Given the description of an element on the screen output the (x, y) to click on. 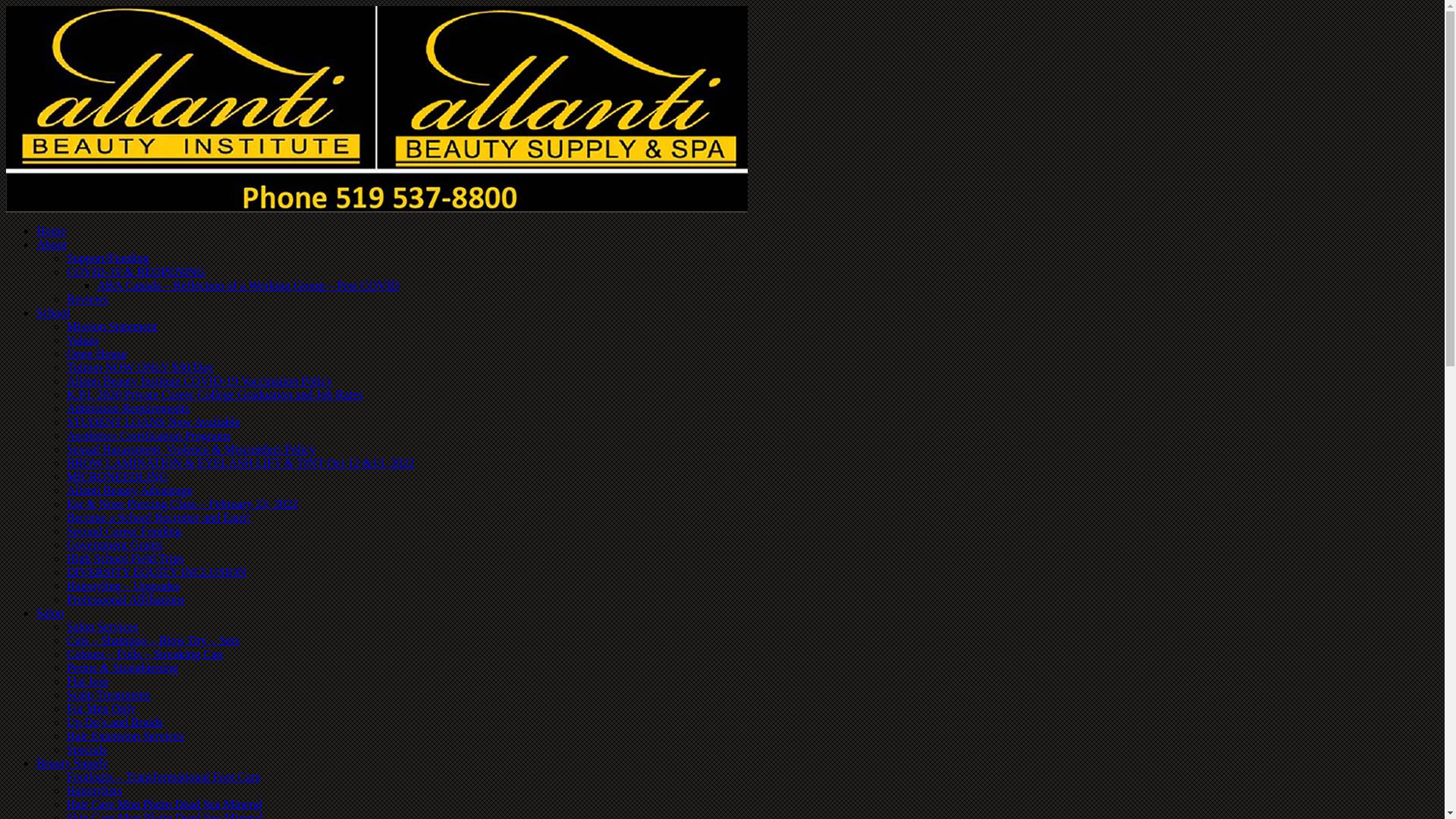
COVID-19 & REOPENING Element type: text (135, 271)
Flat Iron Element type: text (87, 680)
Values Element type: text (82, 339)
Allanti Beauty Institute COVID-19 Vaccination Policy Element type: text (199, 380)
Second Career Funding Element type: text (123, 530)
For Men Only Element type: text (101, 708)
MICRONEEDLING Element type: text (116, 476)
Open House Element type: text (96, 353)
BROW LAMINATION & EYELASH LIFT & TINT Oct 12 &13, 2022 Element type: text (240, 462)
Admission Requirements Element type: text (127, 407)
Mission Statement Element type: text (111, 326)
Hair Extension Services Element type: text (125, 735)
Professional Affiliations Element type: text (125, 599)
Aesthetics Certification Programs Element type: text (148, 435)
School Element type: text (52, 312)
Reviews Element type: text (87, 298)
Beauty Supply Element type: text (72, 762)
Support/Funding Element type: text (107, 257)
STUDENT LOANS Now Available Element type: text (153, 421)
Perms & Straightening Element type: text (122, 667)
K.P.I. 2020 Private Career College Graduation and Job Rates Element type: text (214, 394)
High School Field Trips Element type: text (124, 558)
Specials Element type: text (86, 749)
Tuition NOW ONLY $30/Day Element type: text (139, 366)
About Element type: text (51, 244)
DIVERSITY EQUITY INCLUSION Element type: text (156, 571)
Hairstylists Element type: text (94, 790)
Salon Element type: text (49, 612)
Salon Services Element type: text (102, 626)
Sexual Harassment, Violence & Misconduct Policy Element type: text (190, 448)
Become a School Recruiter and Earn! Element type: text (158, 517)
Allanti Beauty Advantage Element type: text (129, 489)
Home Element type: text (50, 230)
Scalp Treatments Element type: text (108, 694)
Government Grants Element type: text (114, 544)
Hair Care Mon Platin Dead Sea Mineral Element type: text (164, 803)
